Given the description of an element on the screen output the (x, y) to click on. 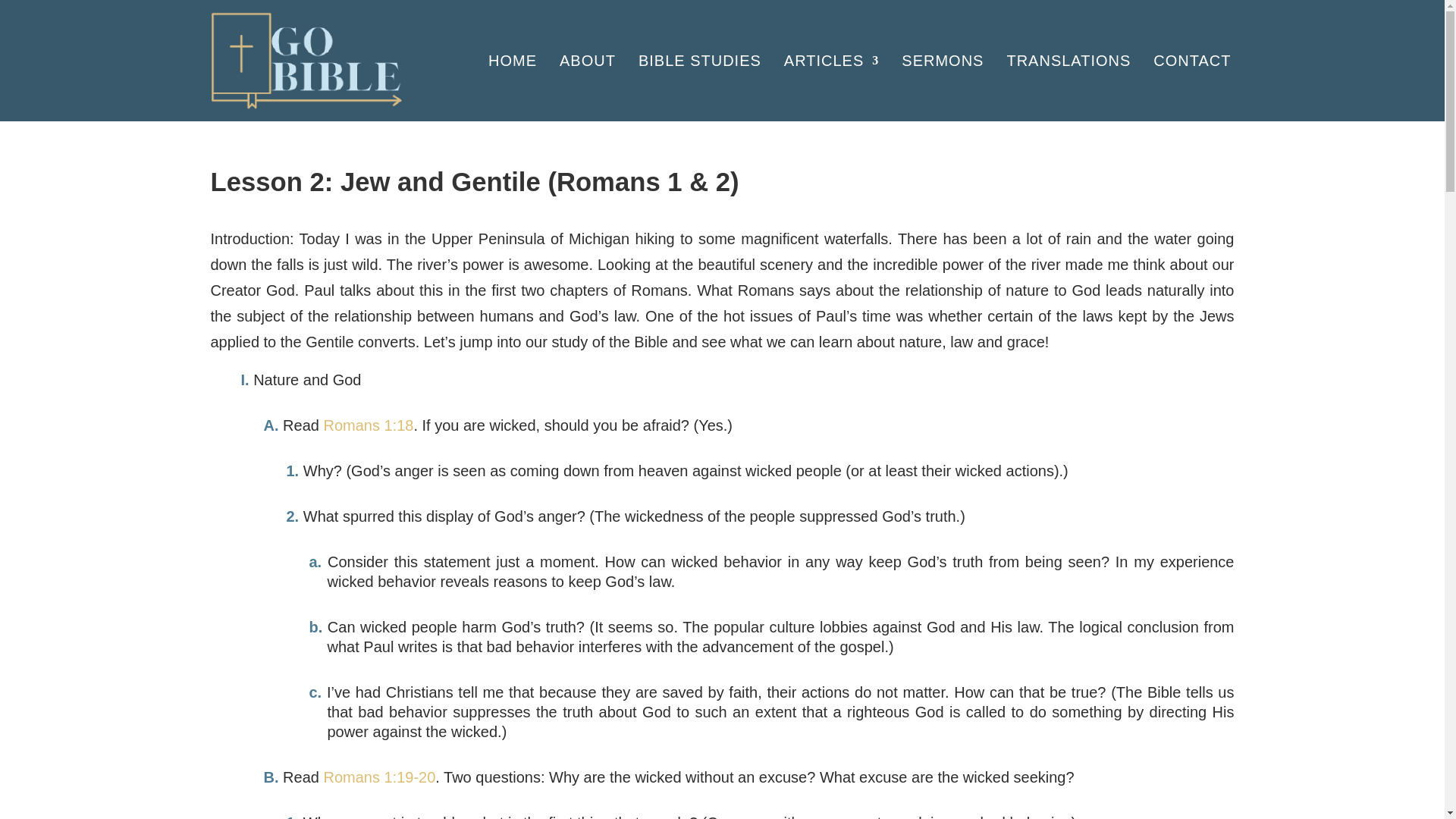
ARTICLES (831, 60)
TRANSLATIONS (1068, 60)
Romans 1:19-20 (379, 777)
BIBLE STUDIES (700, 60)
Romans 1:18 (368, 425)
